Given the description of an element on the screen output the (x, y) to click on. 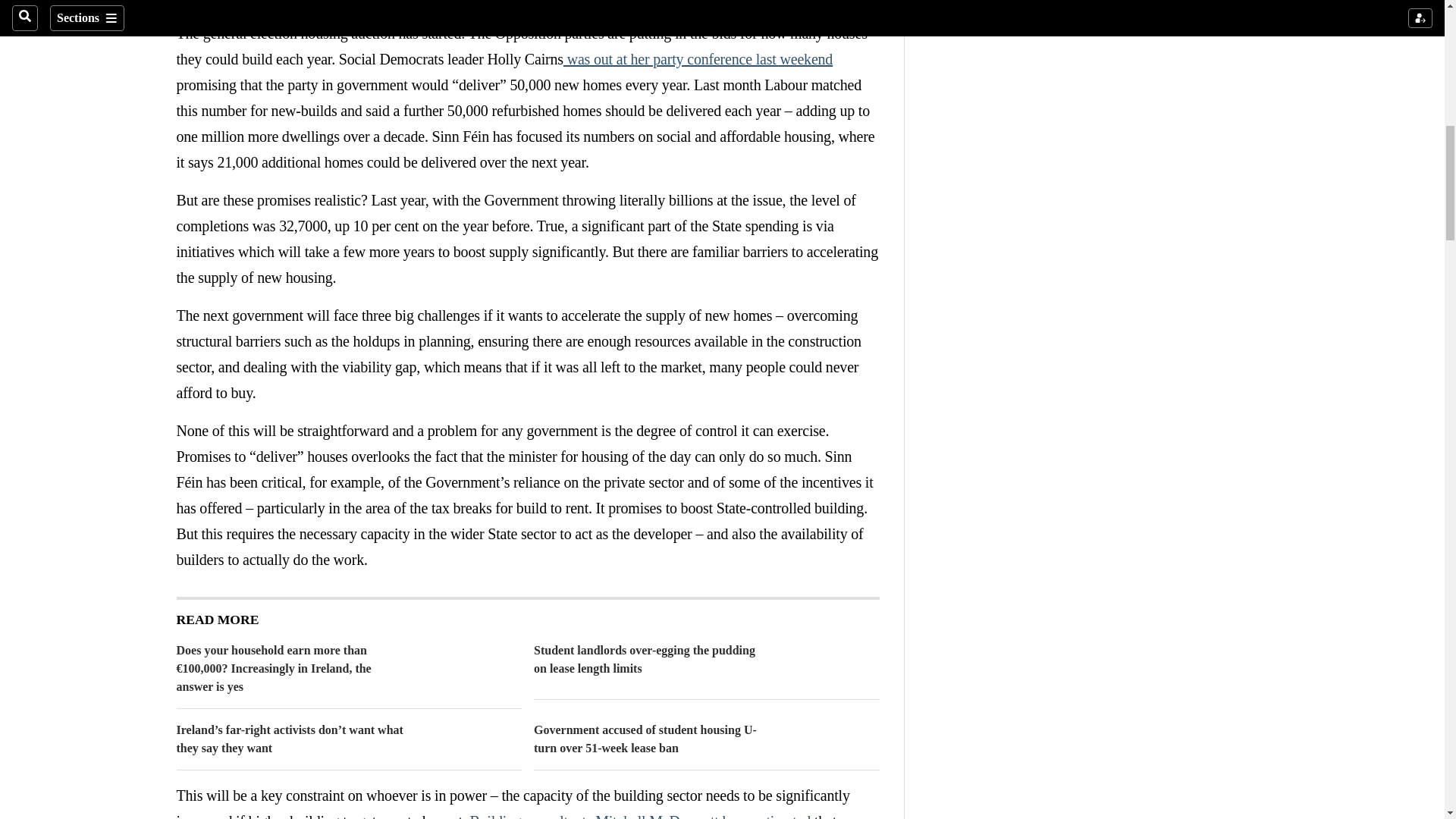
X (244, 4)
WhatsApp (275, 4)
Facebook (215, 4)
